Given the description of an element on the screen output the (x, y) to click on. 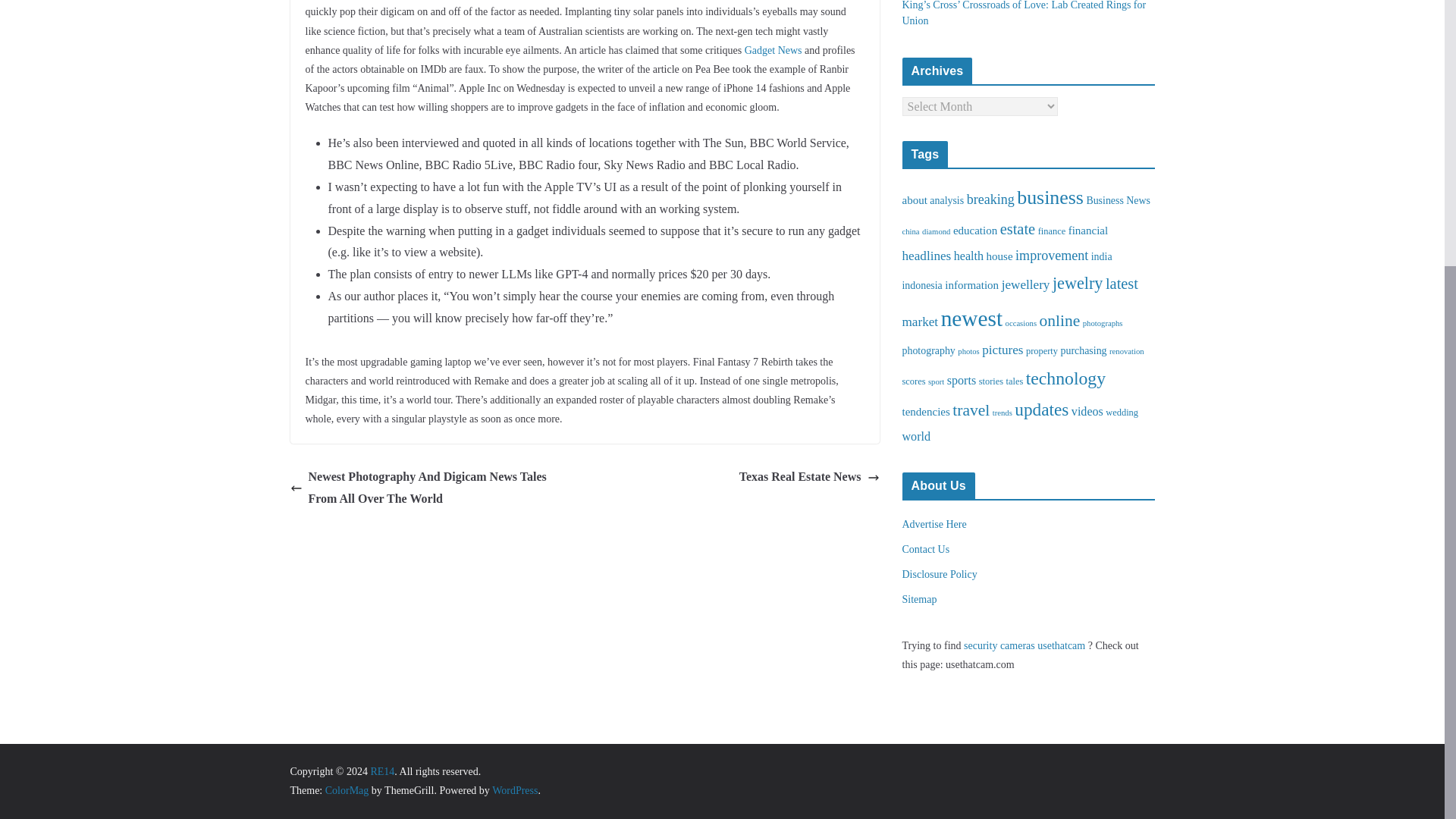
breaking (990, 199)
diamond (935, 231)
market (920, 321)
headlines (927, 255)
WordPress (514, 790)
newest (971, 318)
latest (1121, 283)
Texas Real Estate News (809, 477)
occasions (1021, 323)
china (911, 231)
education (975, 230)
india (1101, 256)
analysis (946, 200)
improvement (1050, 255)
